Given the description of an element on the screen output the (x, y) to click on. 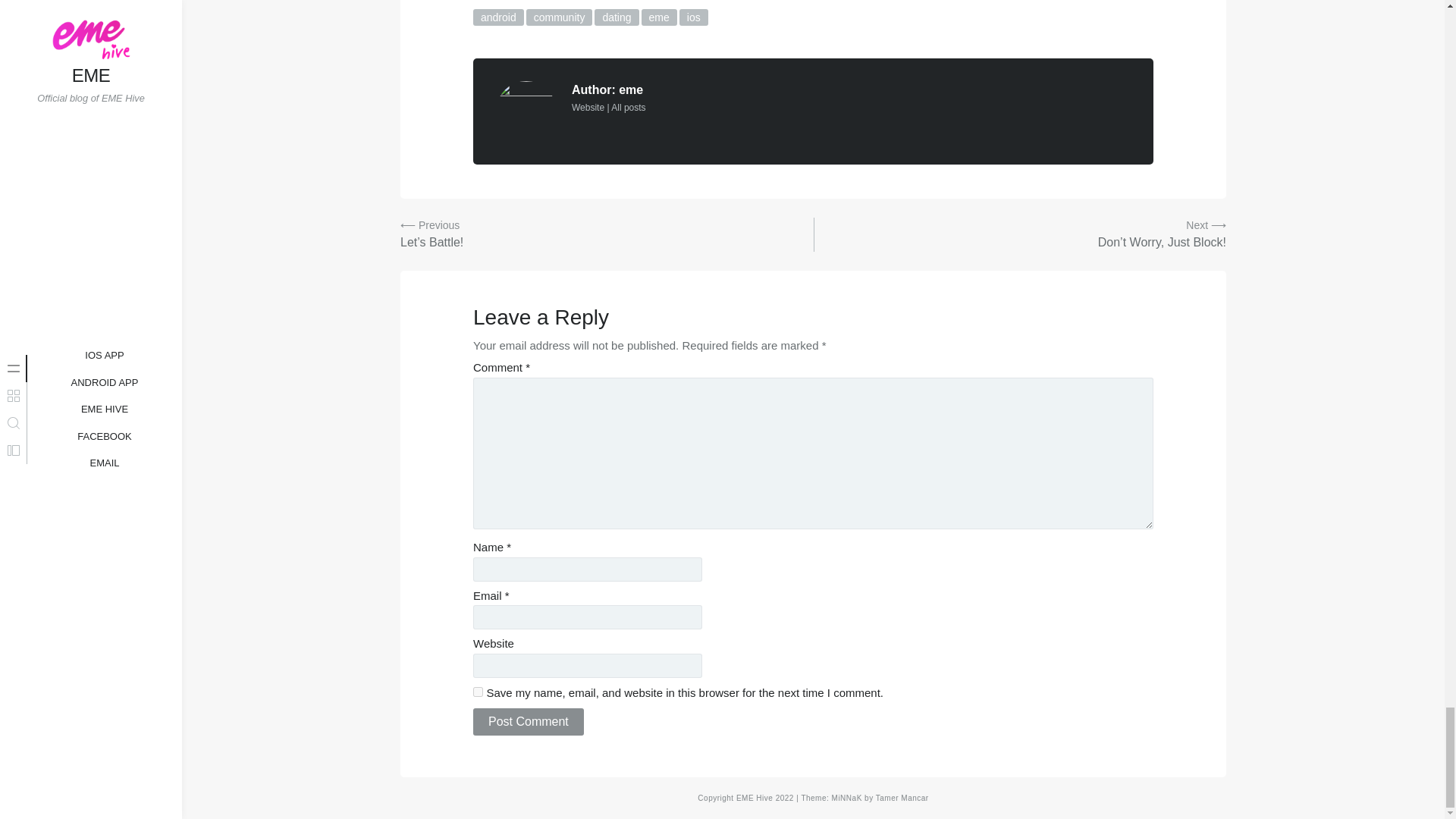
Website (588, 107)
eme (659, 17)
ios (693, 17)
yes (478, 691)
community (558, 17)
dating (616, 17)
android (498, 17)
Post Comment (528, 721)
